Given the description of an element on the screen output the (x, y) to click on. 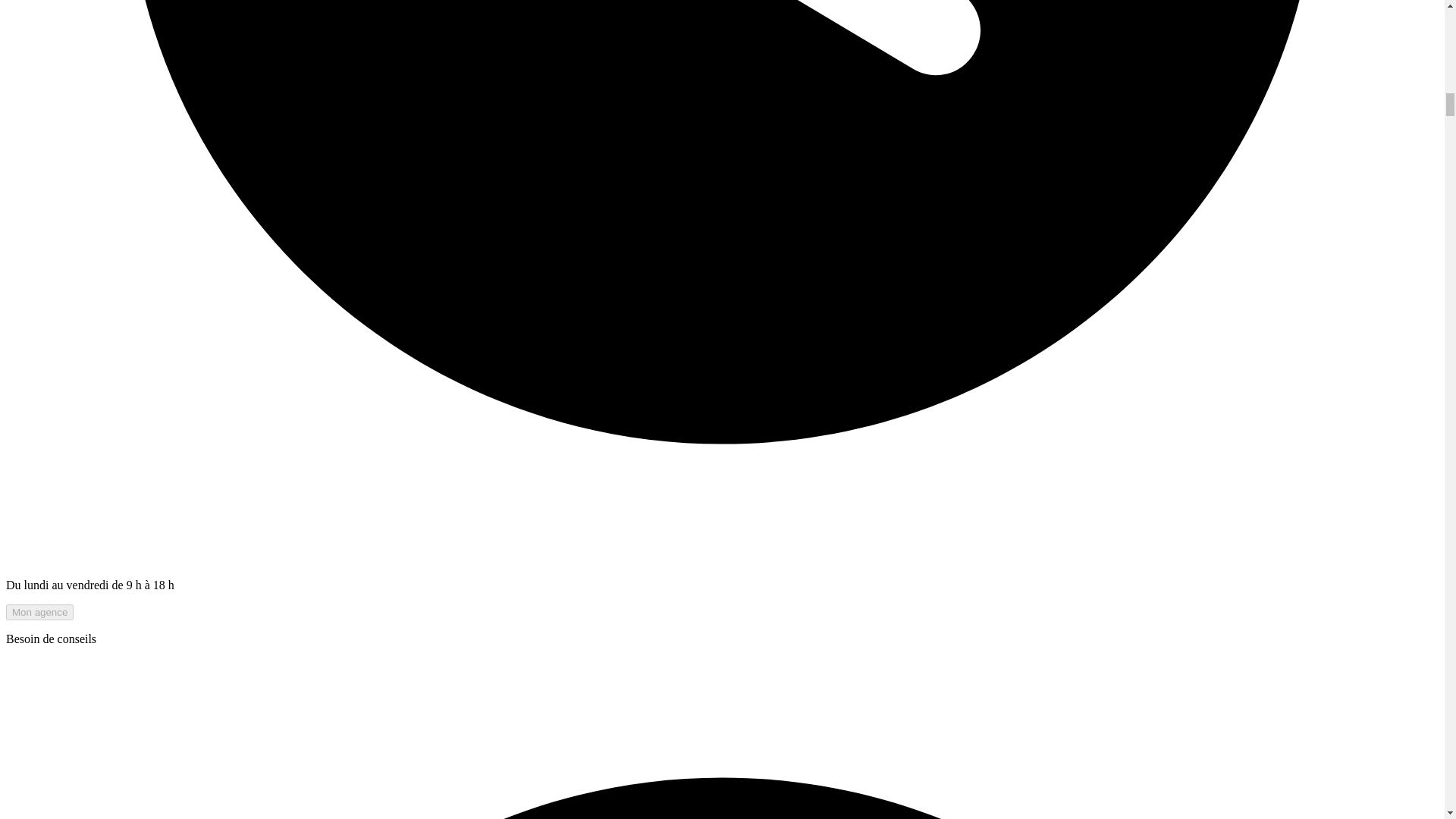
Mon agence (39, 611)
